Given the description of an element on the screen output the (x, y) to click on. 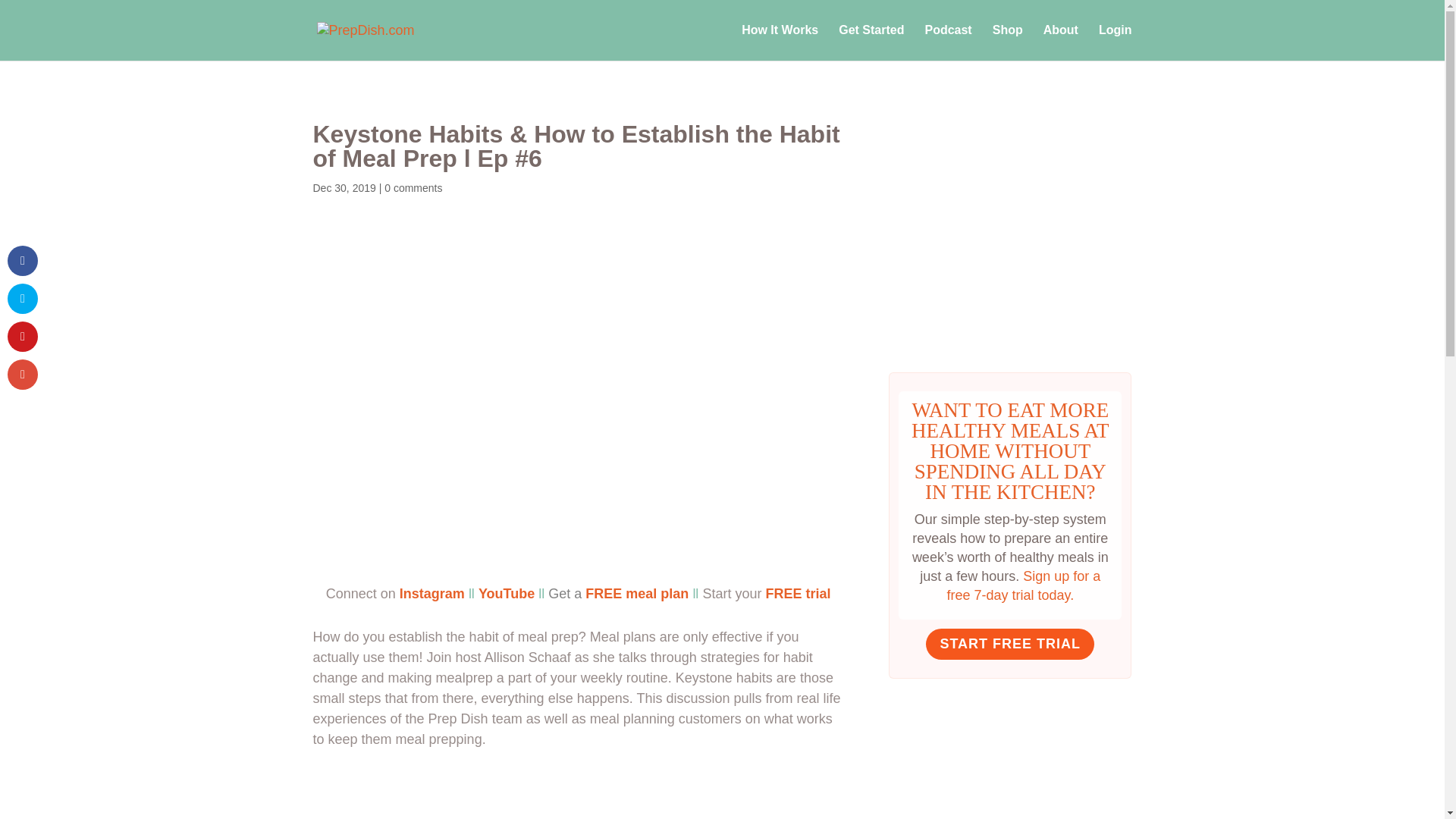
Get Started (871, 42)
Instagram ll (436, 593)
Meal Prep Monday Podcast (1010, 344)
Sign up for a free 7-day trial today. (1023, 585)
FREE meal plan (636, 593)
Podcast (947, 42)
How It Works (779, 42)
About (1060, 42)
START FREE TRIAL (1010, 644)
Login (1115, 42)
